Given the description of an element on the screen output the (x, y) to click on. 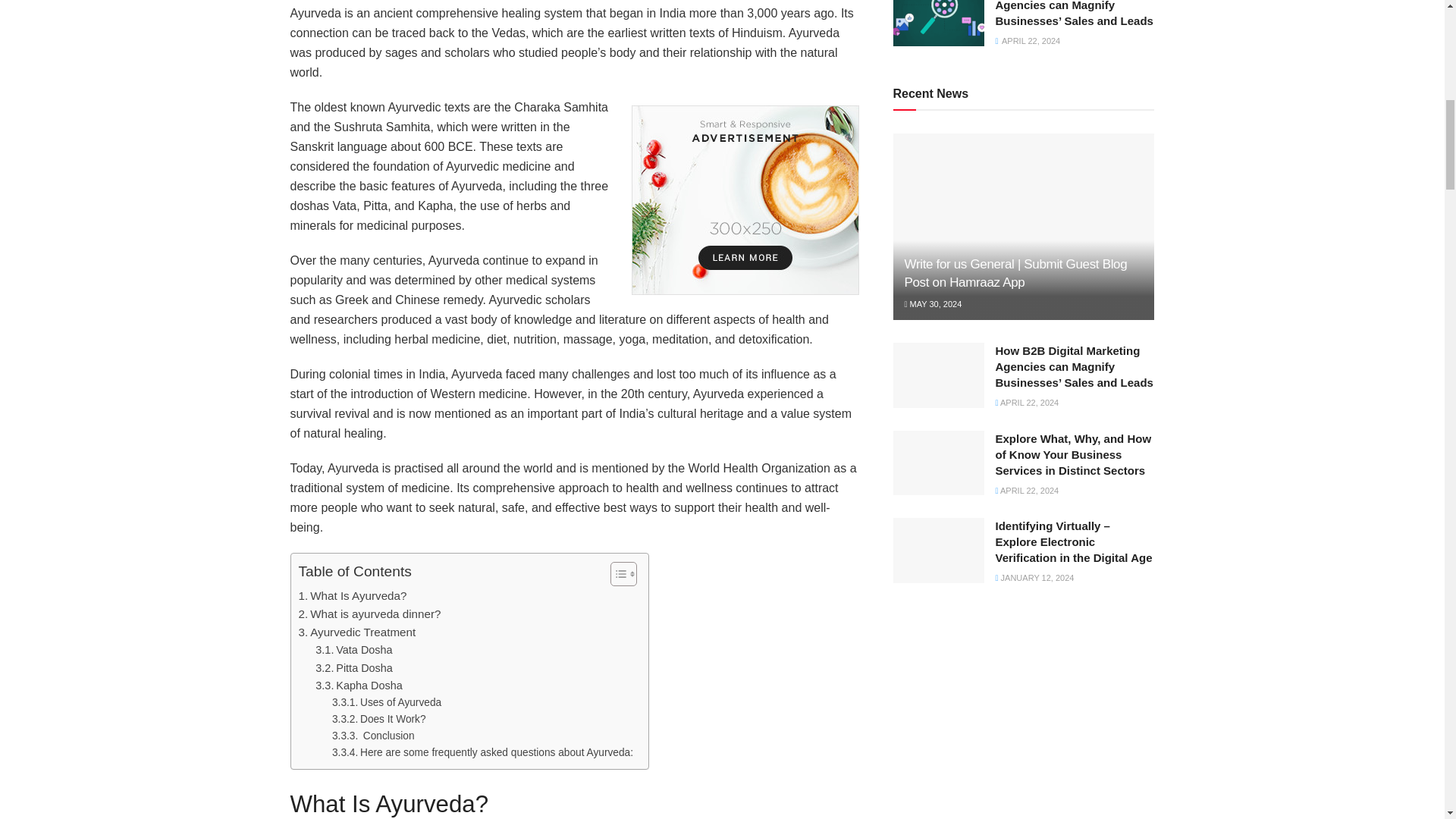
Does It Work? (378, 719)
Ayurvedic Treatment (357, 632)
What Is Ayurveda? (352, 596)
Vata Dosha (353, 650)
Pitta Dosha (354, 668)
Uses of Ayurveda (386, 702)
Here are some frequently asked questions about Ayurveda: (482, 752)
Kapha Dosha (358, 685)
What is ayurveda dinner? (369, 614)
